Given the description of an element on the screen output the (x, y) to click on. 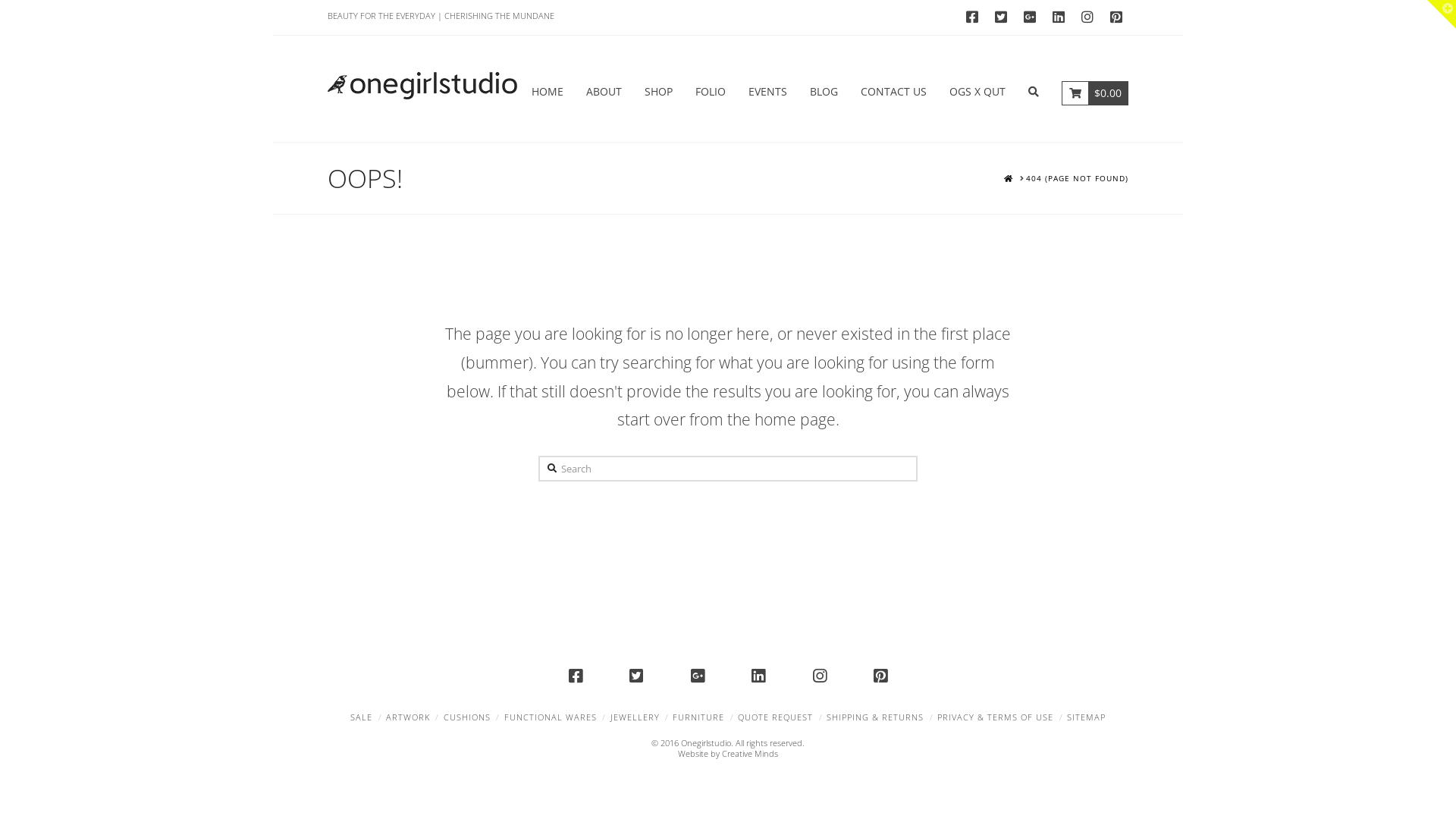
Google+ Element type: hover (1029, 16)
ABOUT Element type: text (603, 88)
Instagram Element type: hover (1087, 16)
Twitter Element type: hover (1000, 16)
FUNCTIONAL WARES Element type: text (550, 716)
Creative Minds Element type: text (749, 753)
QUOTE REQUEST Element type: text (774, 716)
Pinterest Element type: hover (1116, 16)
404 (PAGE NOT FOUND) Element type: text (1077, 178)
Instagram Element type: hover (819, 675)
HOME Element type: text (1008, 178)
FURNITURE Element type: text (698, 716)
Google+ Element type: hover (697, 675)
EVENTS Element type: text (767, 88)
HOME Element type: text (547, 88)
SITEMAP Element type: text (1085, 716)
CUSHIONS Element type: text (466, 716)
Facebook Element type: hover (972, 16)
OGS X QUT Element type: text (977, 88)
SALE Element type: text (361, 716)
BLOG Element type: text (823, 88)
JEWELLERY Element type: text (633, 716)
Twitter Element type: hover (635, 675)
CONTACT US Element type: text (893, 88)
LinkedIn Element type: hover (1058, 16)
SHIPPING & RETURNS Element type: text (874, 716)
SHOP Element type: text (658, 88)
Facebook Element type: hover (575, 675)
LinkedIn Element type: hover (757, 675)
ARTWORK Element type: text (407, 716)
FOLIO Element type: text (710, 88)
PRIVACY & TERMS OF USE Element type: text (995, 716)
Pinterest Element type: hover (879, 675)
$0.00 Element type: text (1094, 88)
